Given the description of an element on the screen output the (x, y) to click on. 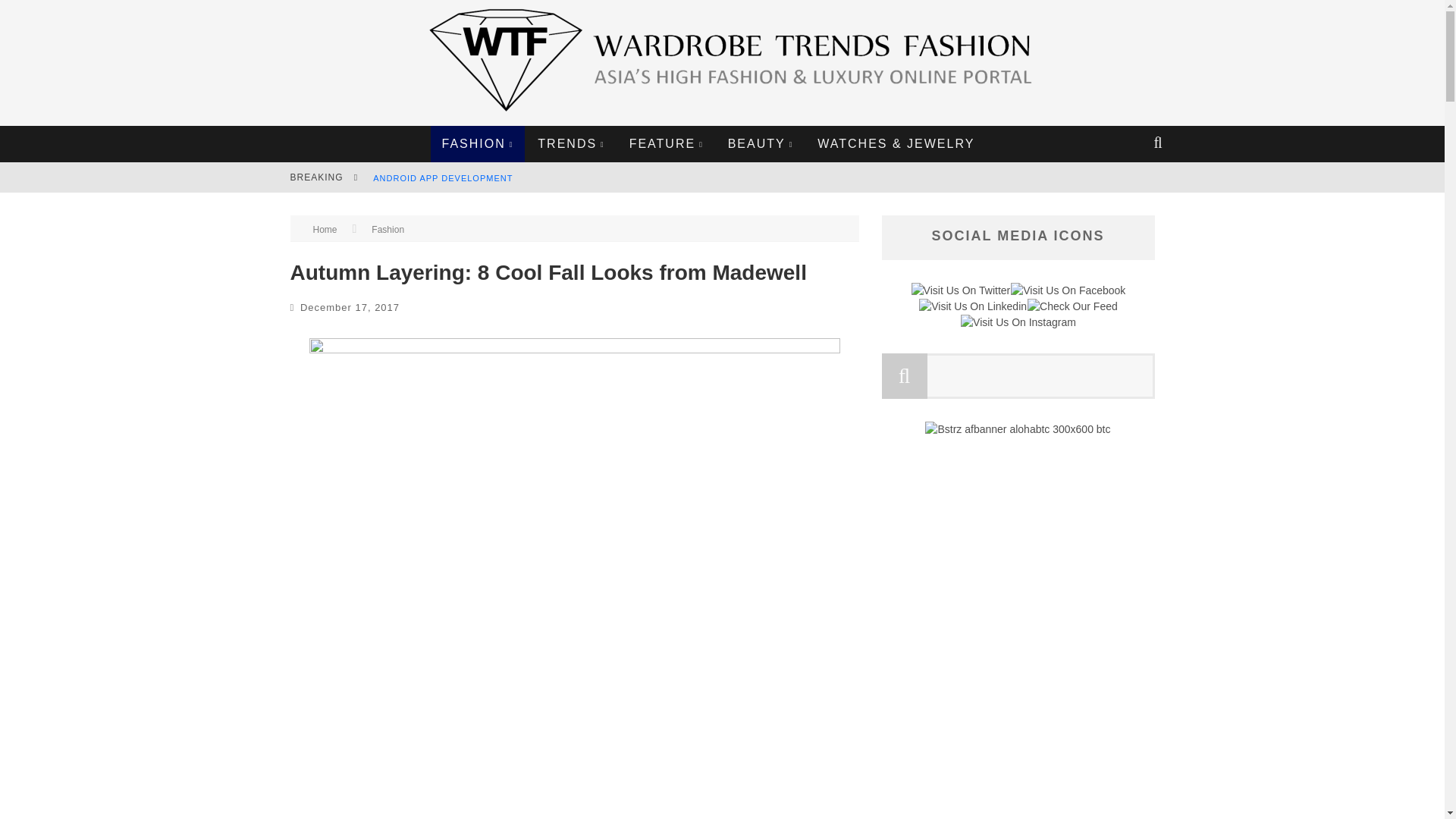
View all posts in Fashion (387, 229)
Visit Us On Linkedin (972, 306)
FASHION (477, 144)
Visit Us On Instagram (1017, 322)
Visit Us On Facebook (1067, 290)
Android App Development (442, 177)
Check Our Feed (1072, 306)
Visit Us On Twitter (960, 290)
